Given the description of an element on the screen output the (x, y) to click on. 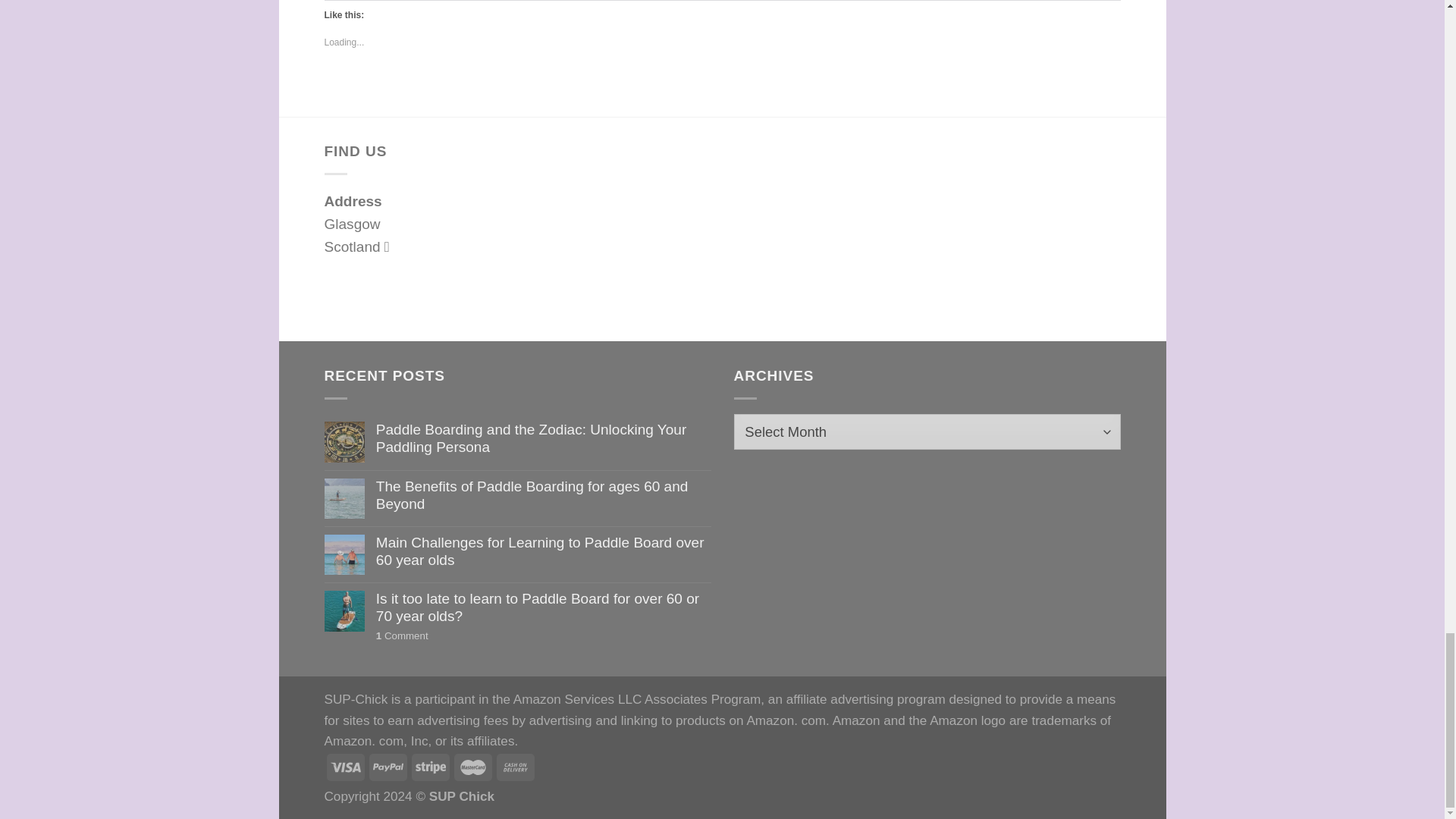
The Benefits of Paddle Boarding for ages 60 and Beyond (543, 495)
